Given the description of an element on the screen output the (x, y) to click on. 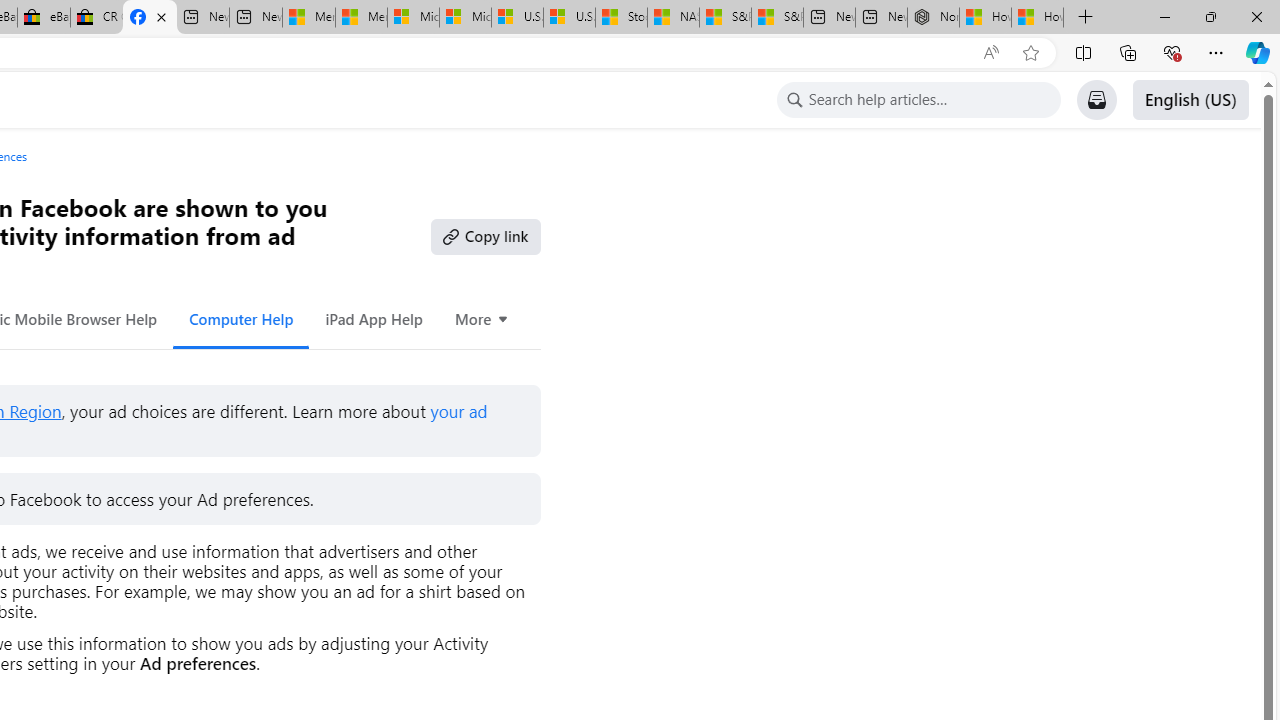
Support Inbox (1096, 99)
Class: x19dipnz x1lliihq x1tzjh5l x1k90msu x2h7rmj x1qfuztq (793, 100)
More (482, 318)
